Given the description of an element on the screen output the (x, y) to click on. 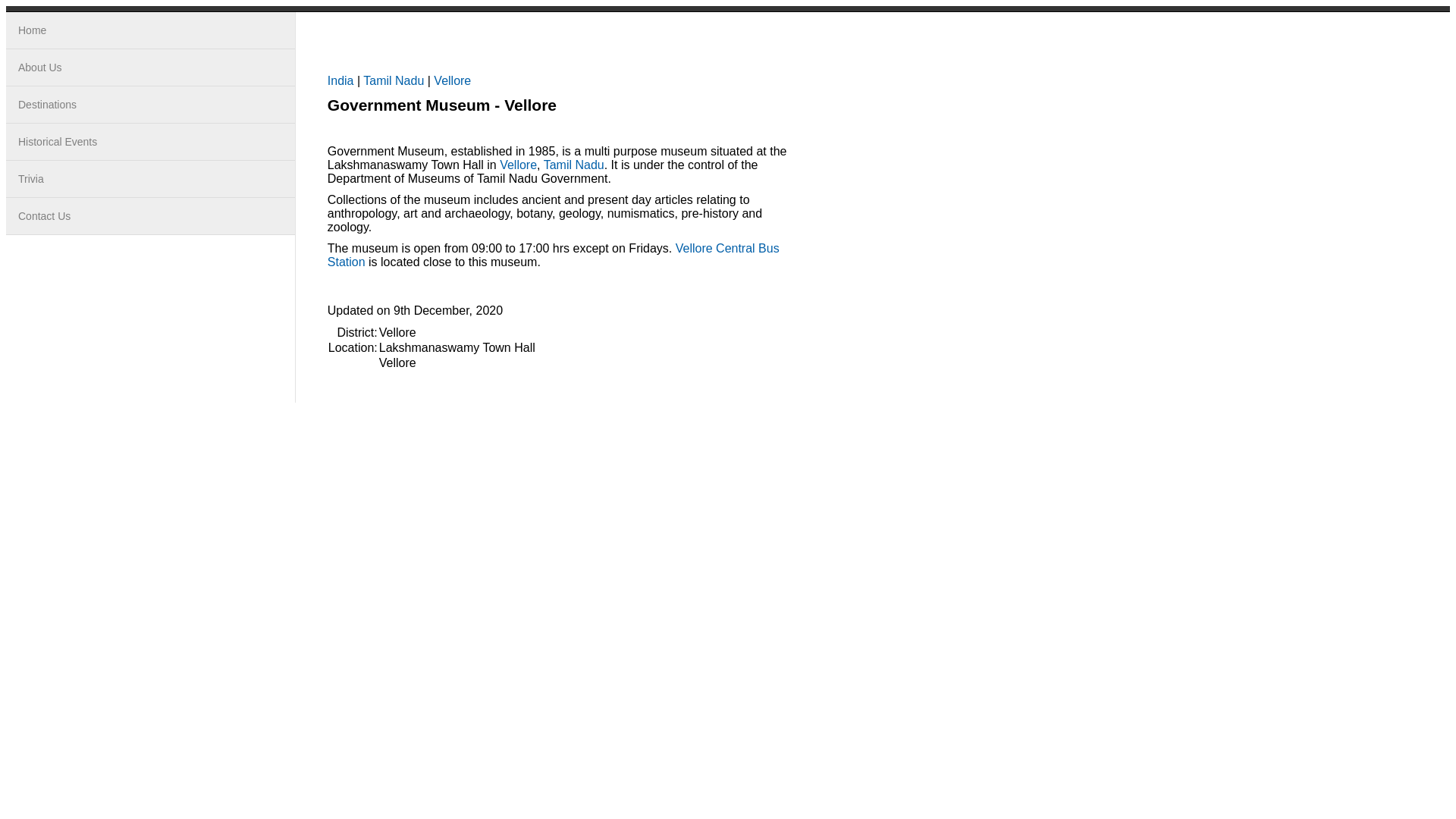
Trivia (150, 179)
Tamil Nadu (392, 80)
Tamil Nadu (573, 164)
About Us (150, 67)
Vellore (451, 80)
City (451, 80)
Vellore Central Bus Station (552, 254)
Destinations (150, 104)
Vellore (518, 164)
India (340, 80)
State (392, 80)
Contact Us (150, 216)
Home (150, 30)
Historical Events (150, 141)
